Given the description of an element on the screen output the (x, y) to click on. 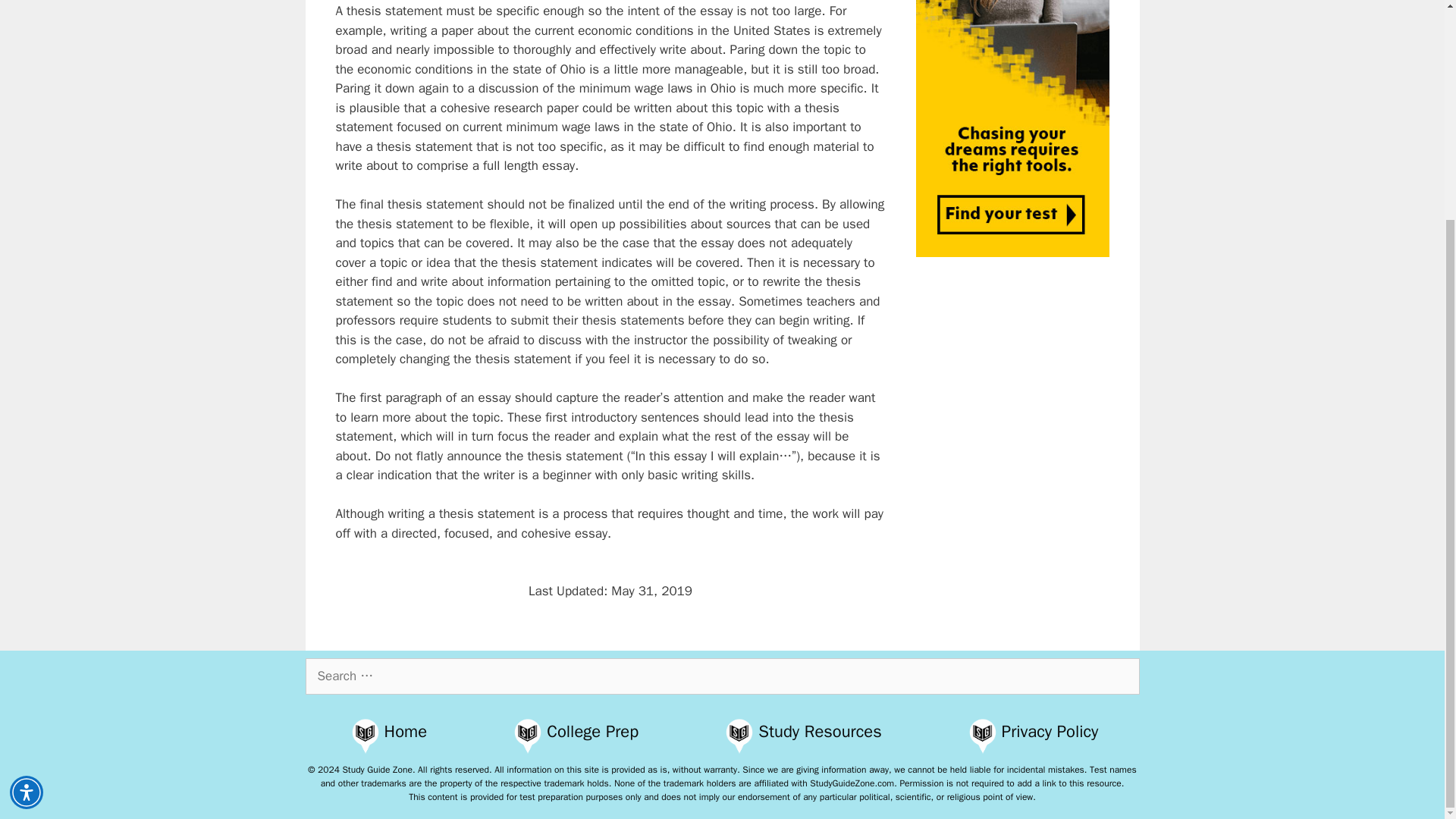
Study Resources (819, 731)
Privacy Policy (1050, 731)
Home (406, 731)
Search for: (721, 676)
Accessibility Menu (26, 500)
College Prep (593, 731)
